Given the description of an element on the screen output the (x, y) to click on. 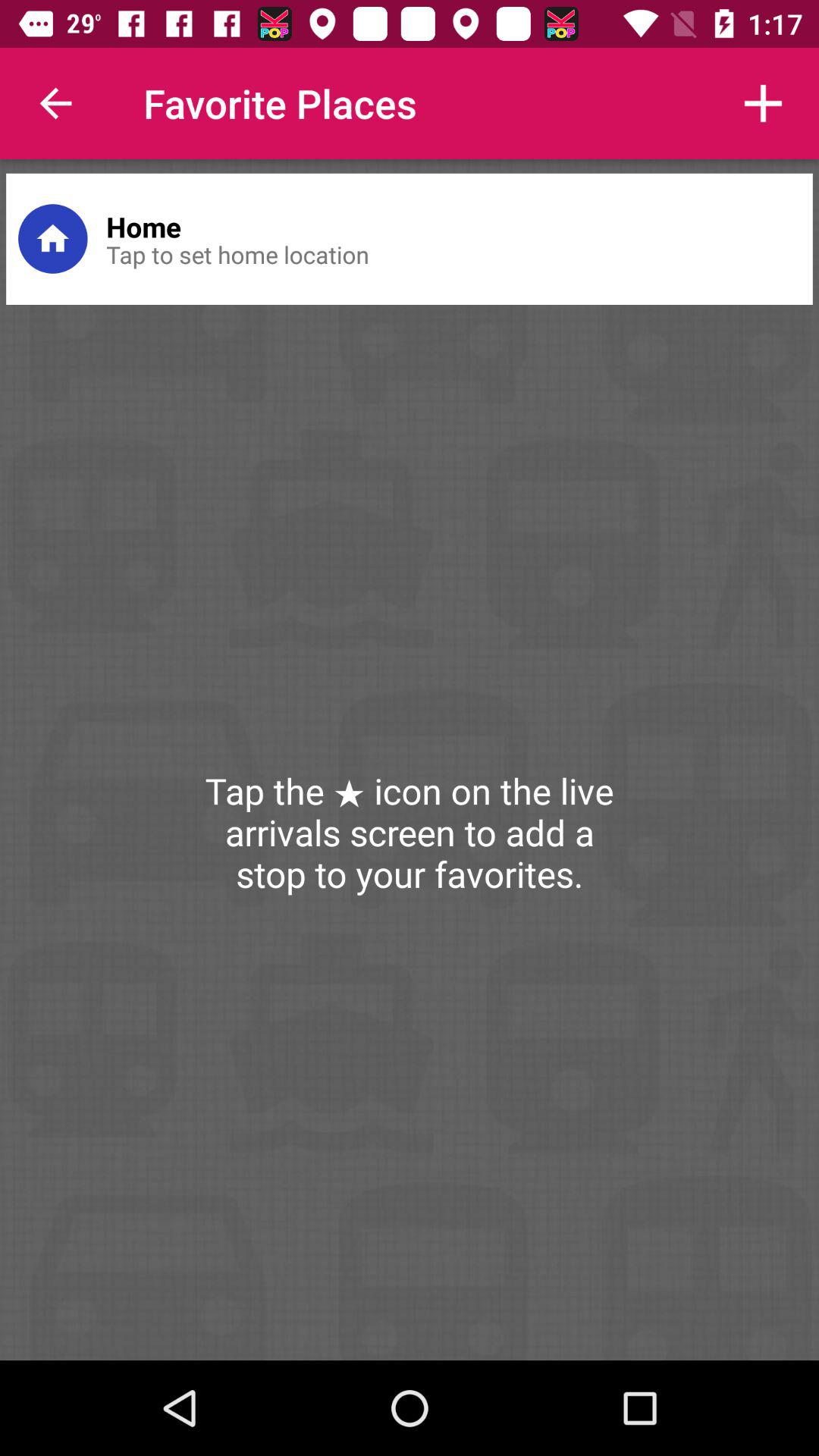
turn on icon to the left of the favorite places item (55, 103)
